Given the description of an element on the screen output the (x, y) to click on. 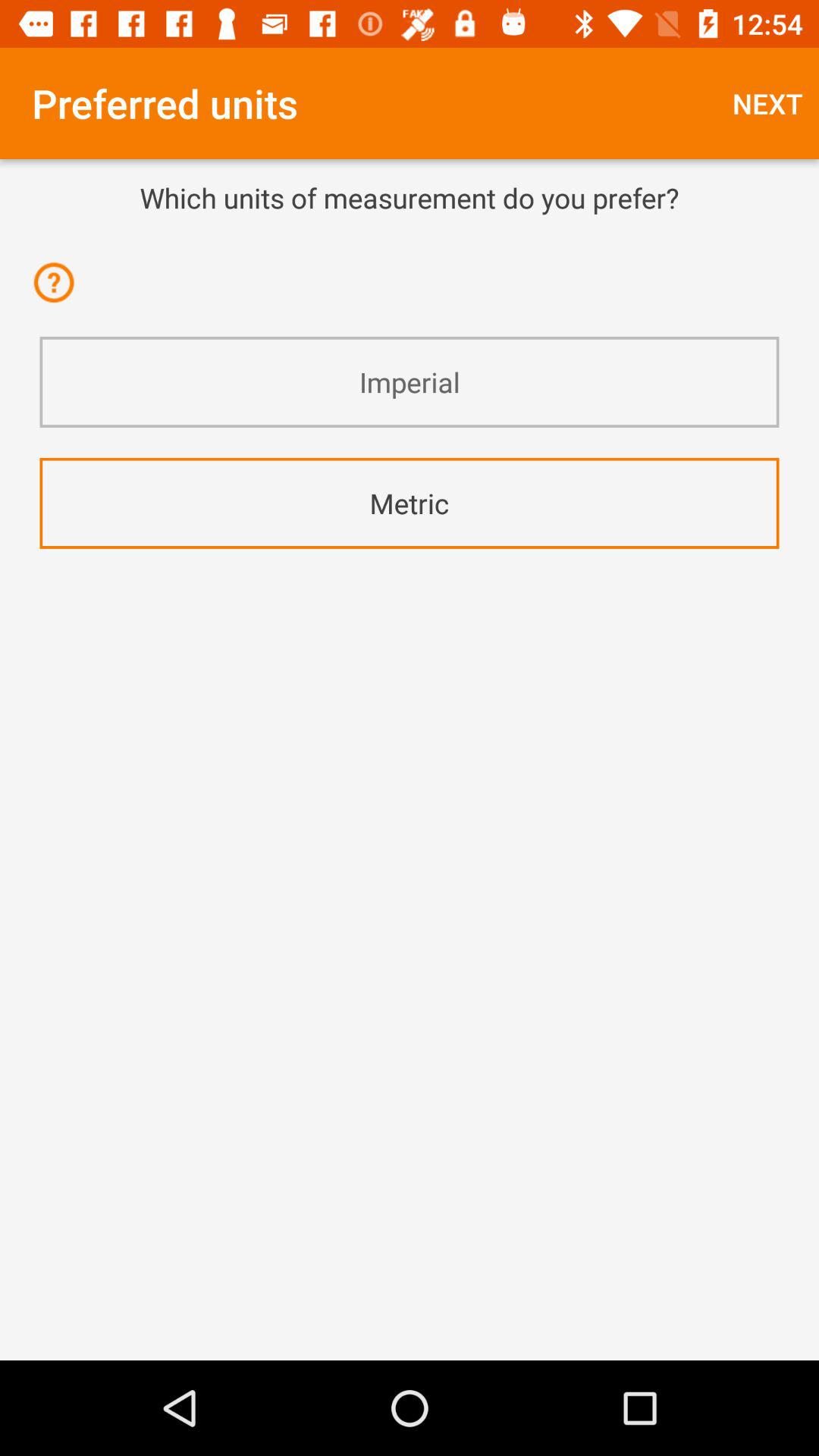
open the icon above the metric icon (409, 381)
